Given the description of an element on the screen output the (x, y) to click on. 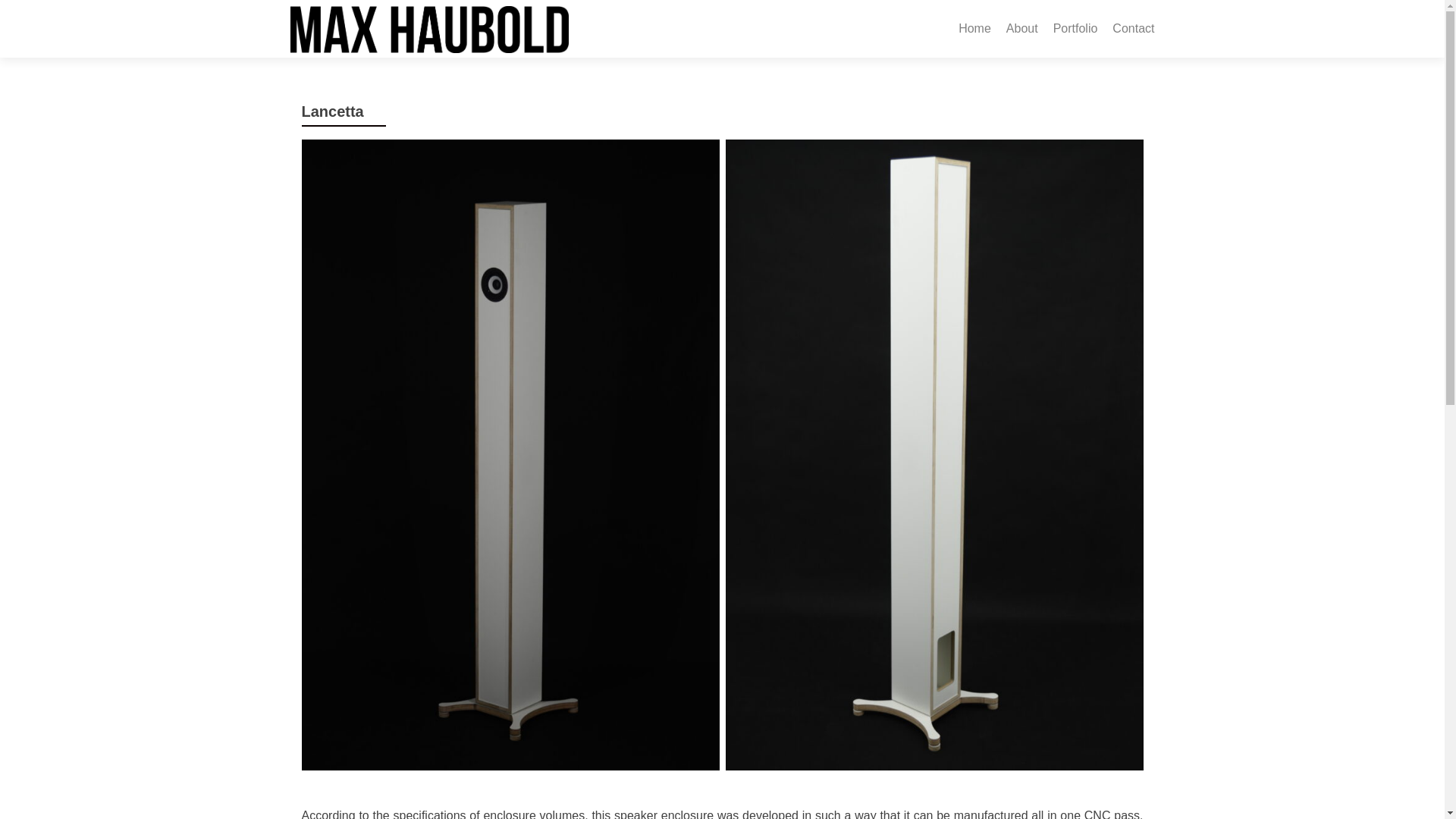
About (1022, 28)
Portfolio (1074, 28)
Contact (1133, 28)
Home (974, 28)
